Given the description of an element on the screen output the (x, y) to click on. 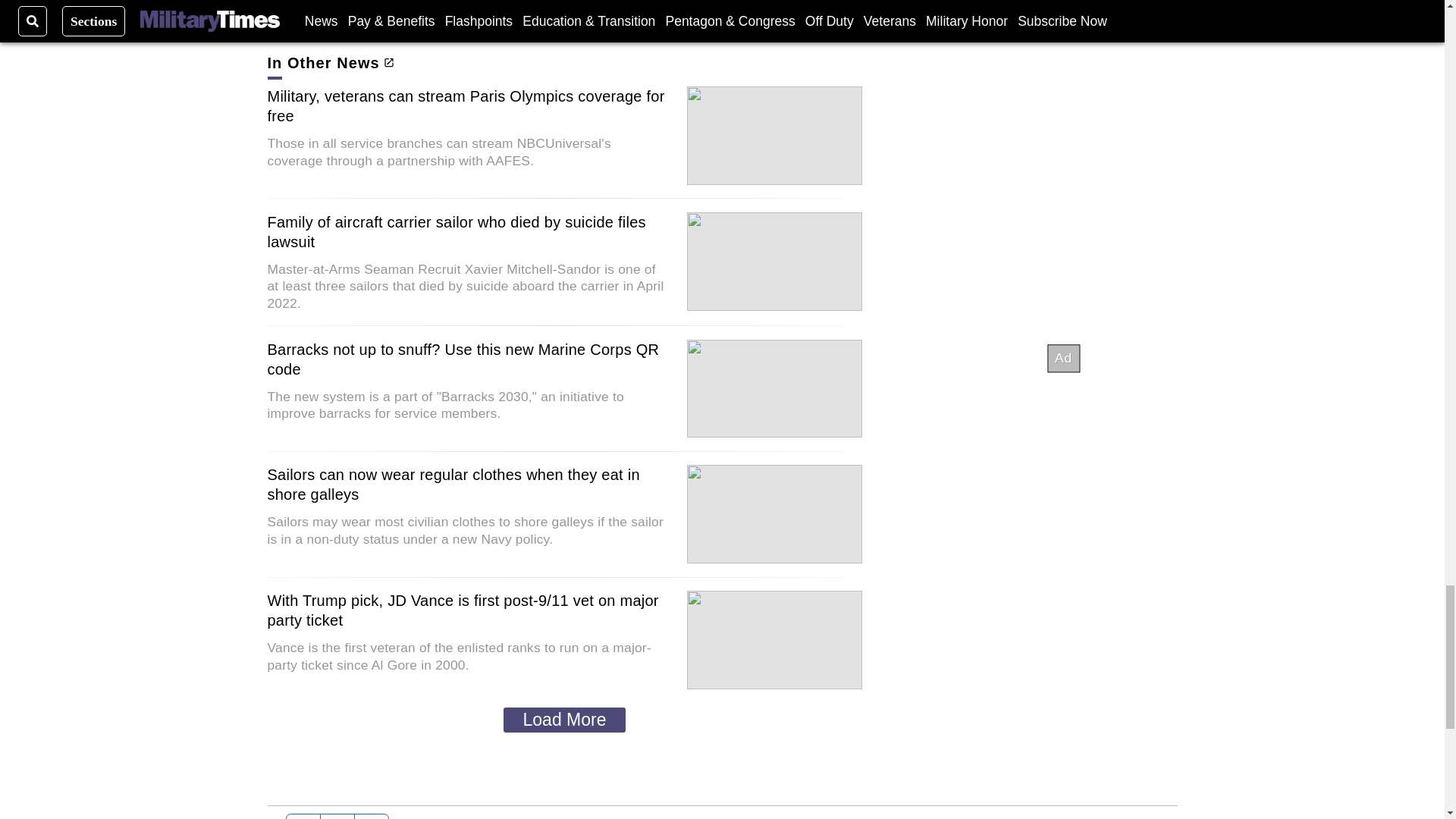
Twitter feed (336, 816)
RSS feed (371, 816)
Facebook page (303, 816)
